Given the description of an element on the screen output the (x, y) to click on. 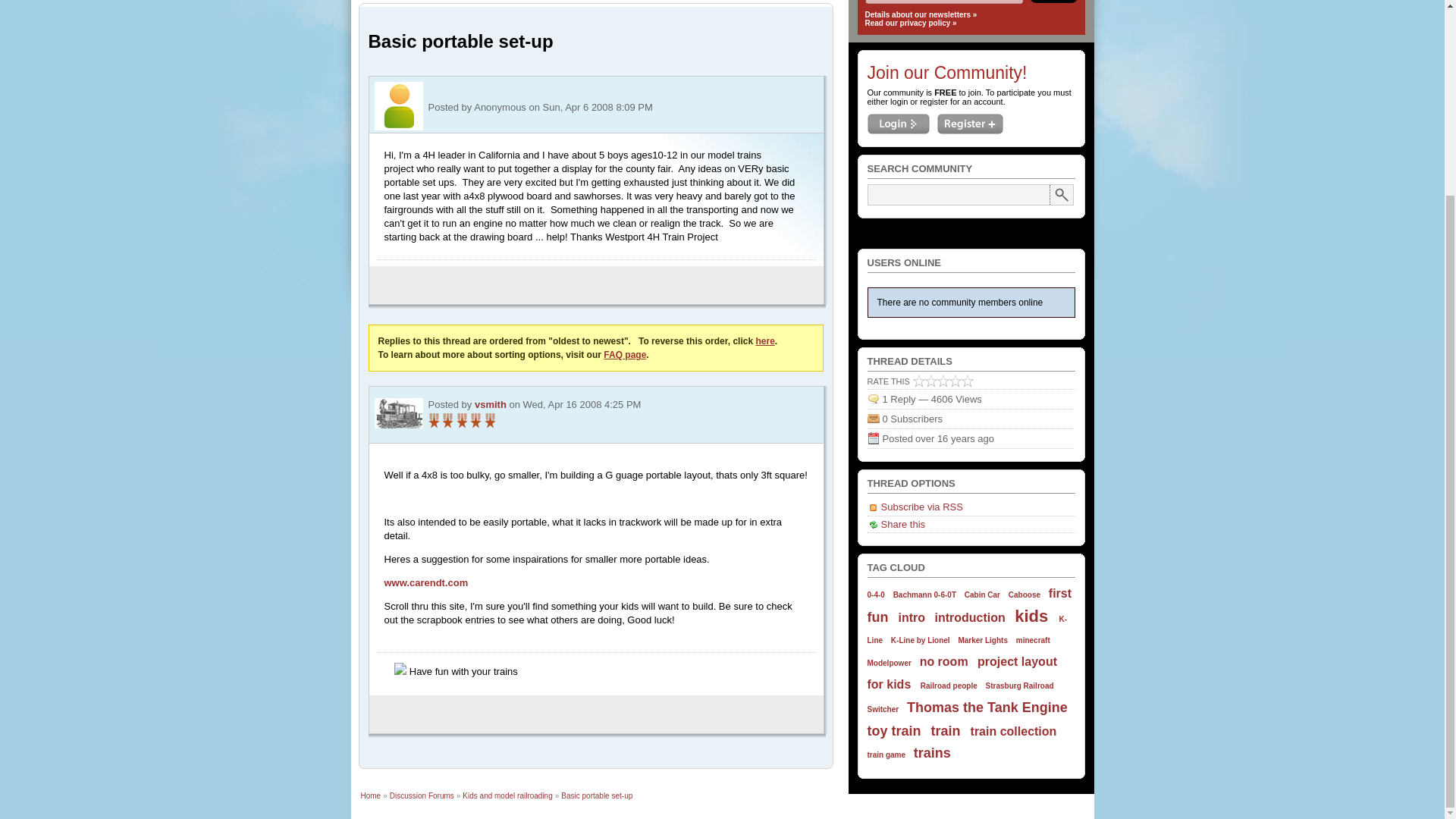
Caboose (1025, 594)
first (1059, 593)
Privacy policy (910, 22)
intro (911, 617)
kids (1031, 615)
Details about our newsletters (920, 14)
E-mail address (943, 2)
Cabin Car (981, 594)
Switcher (883, 709)
introduction (969, 617)
